Given the description of an element on the screen output the (x, y) to click on. 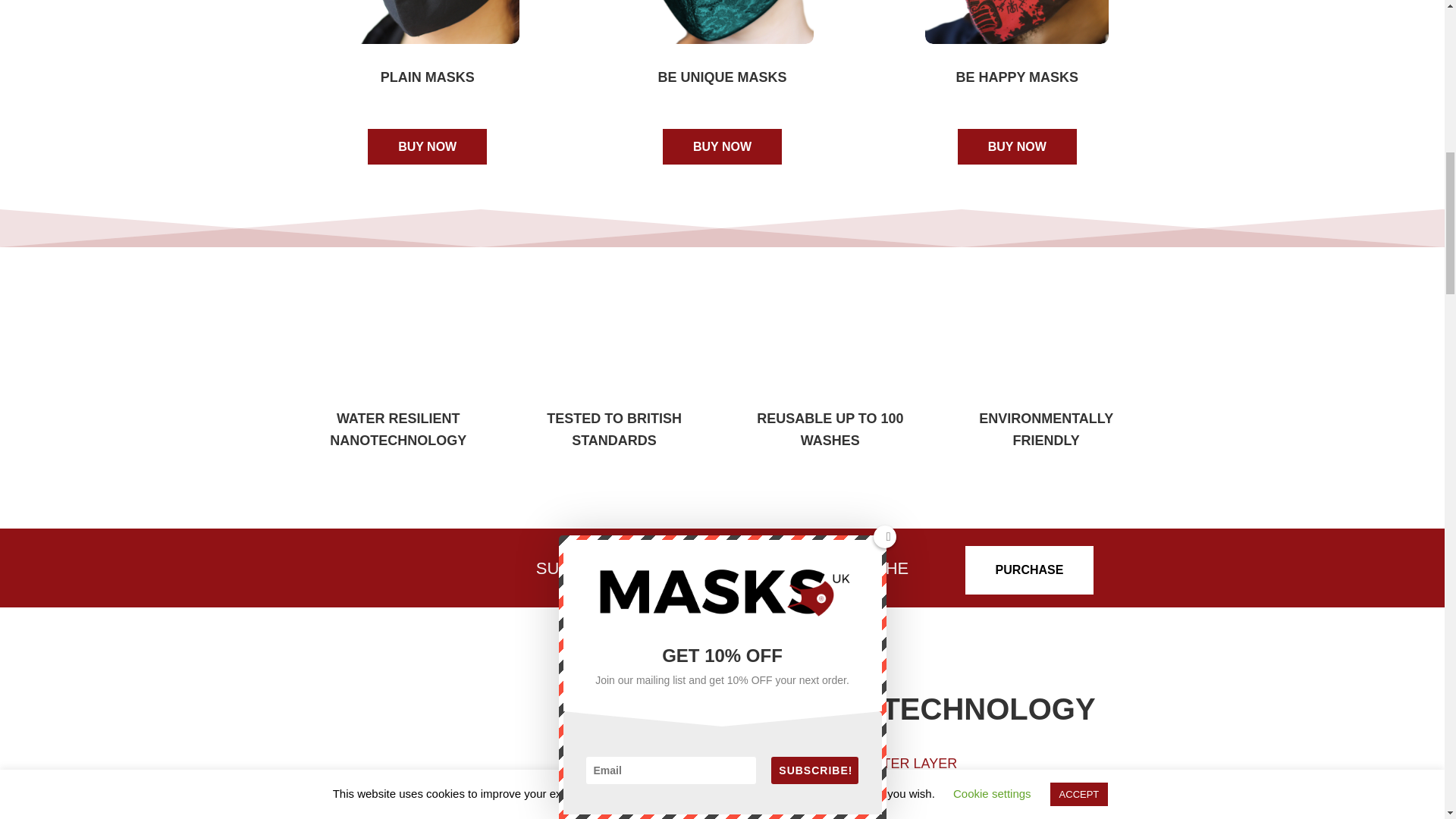
MasksUK Layer Technology (462, 748)
BUY NOW (427, 146)
BUY NOW (1017, 146)
West Midlands Police (415, 565)
BUY NOW (721, 146)
PURCHASE (1029, 569)
